Given the description of an element on the screen output the (x, y) to click on. 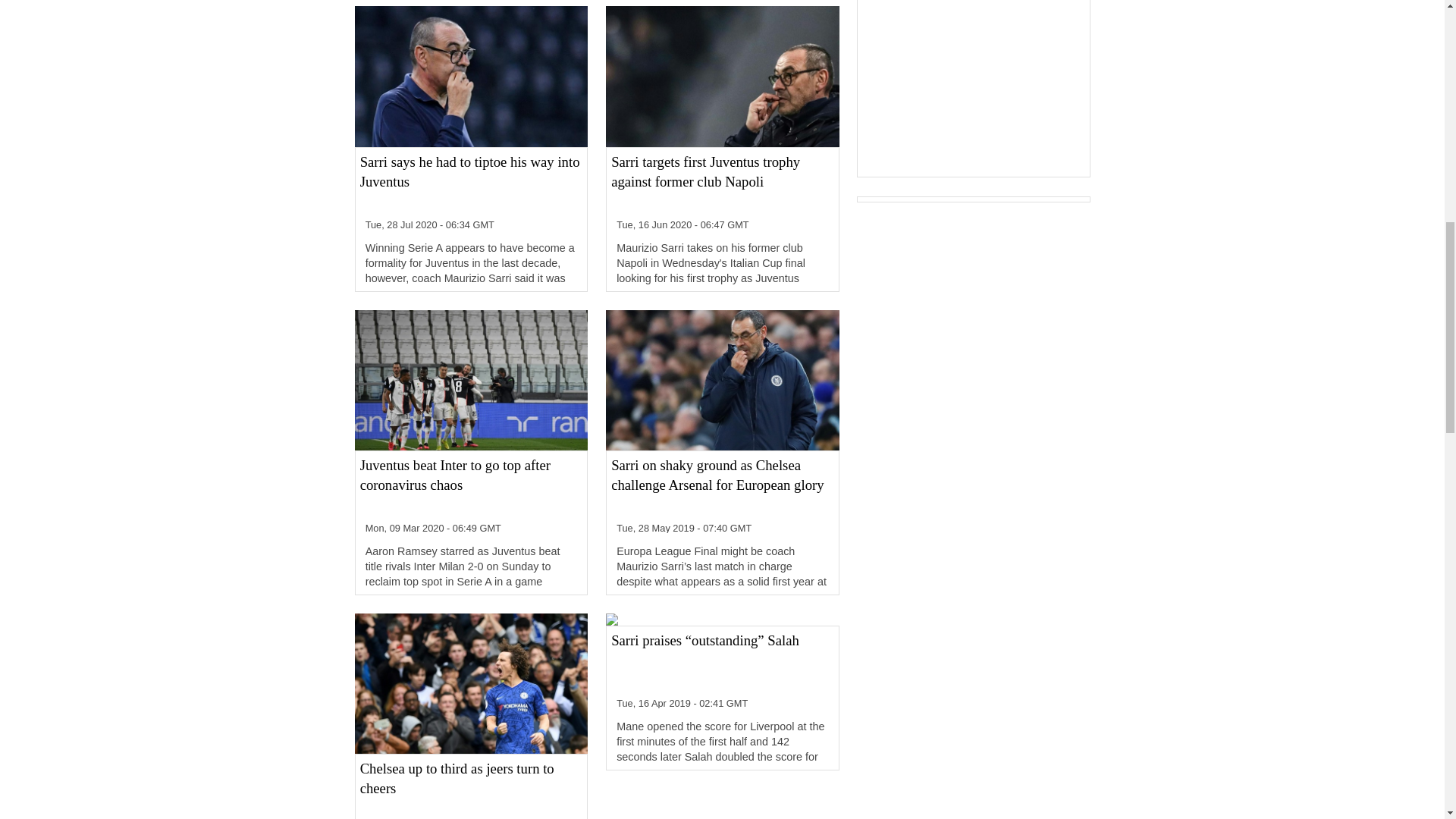
Juventus beat Inter to go top after coronavirus chaos (470, 485)
Sarri says he had to tiptoe his way into Juventus (470, 182)
